Given the description of an element on the screen output the (x, y) to click on. 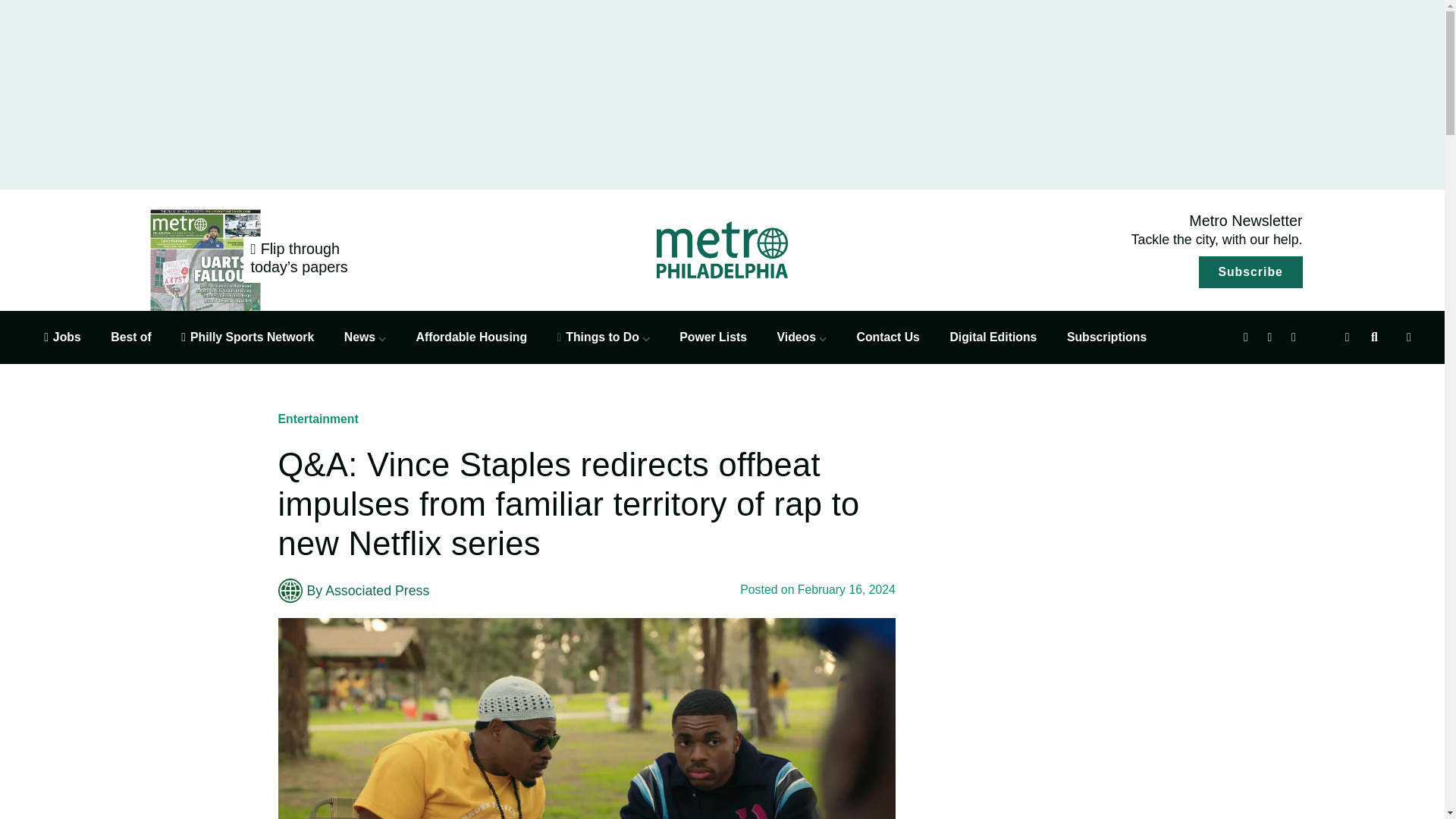
Best of (130, 336)
Subscriptions (1107, 336)
Things to Do (603, 336)
Jobs (62, 336)
Digital Editions (992, 336)
Philly Sports Network (247, 336)
Posts by Associated Press (376, 590)
Subscribe (1250, 272)
News (364, 336)
Power Lists (712, 336)
